Given the description of an element on the screen output the (x, y) to click on. 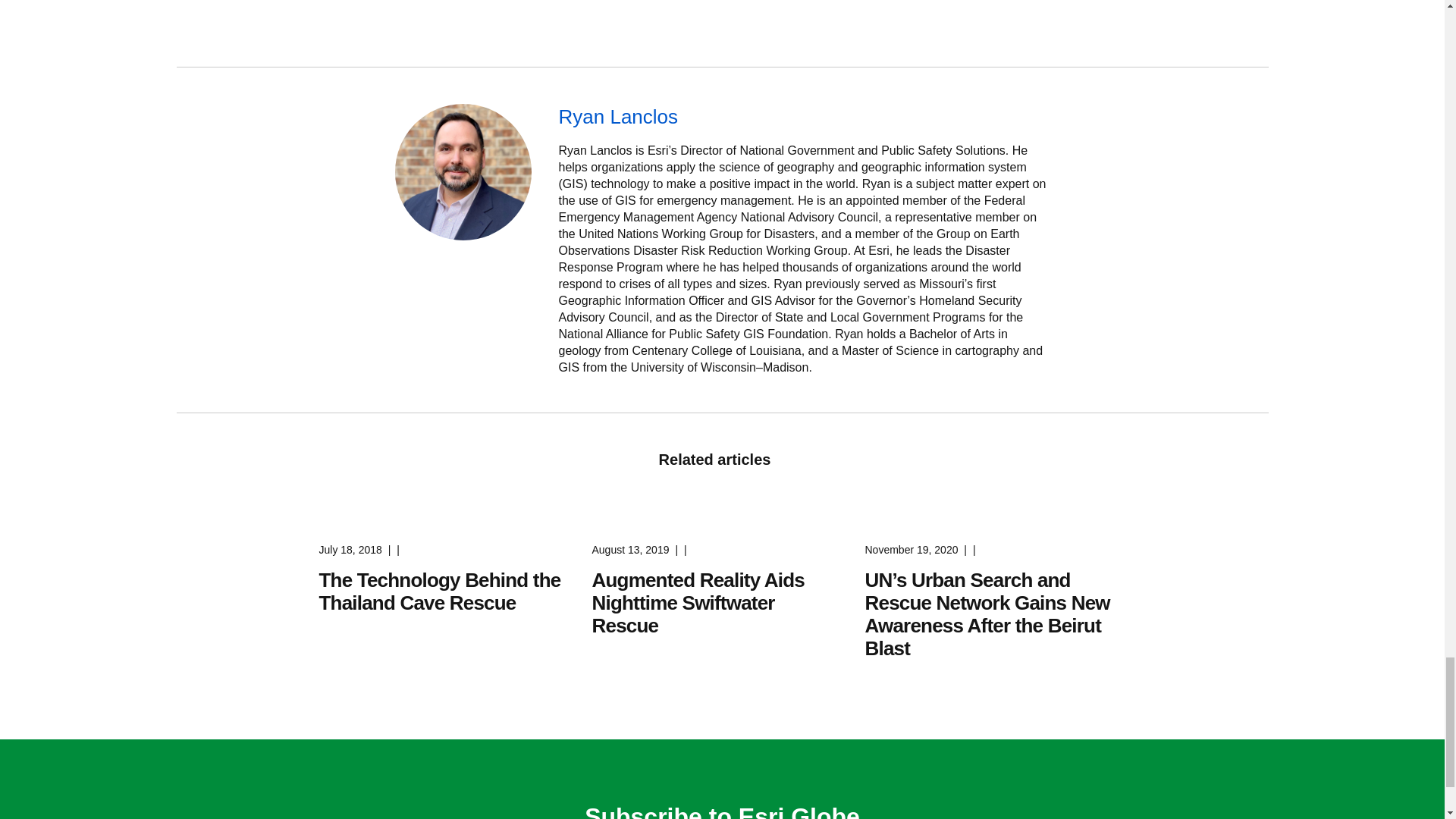
Augmented Reality Aids Nighttime Swiftwater Rescue (698, 602)
Ryan Lanclos (803, 117)
The Technology Behind the Thailand Cave Rescue (439, 591)
